Given the description of an element on the screen output the (x, y) to click on. 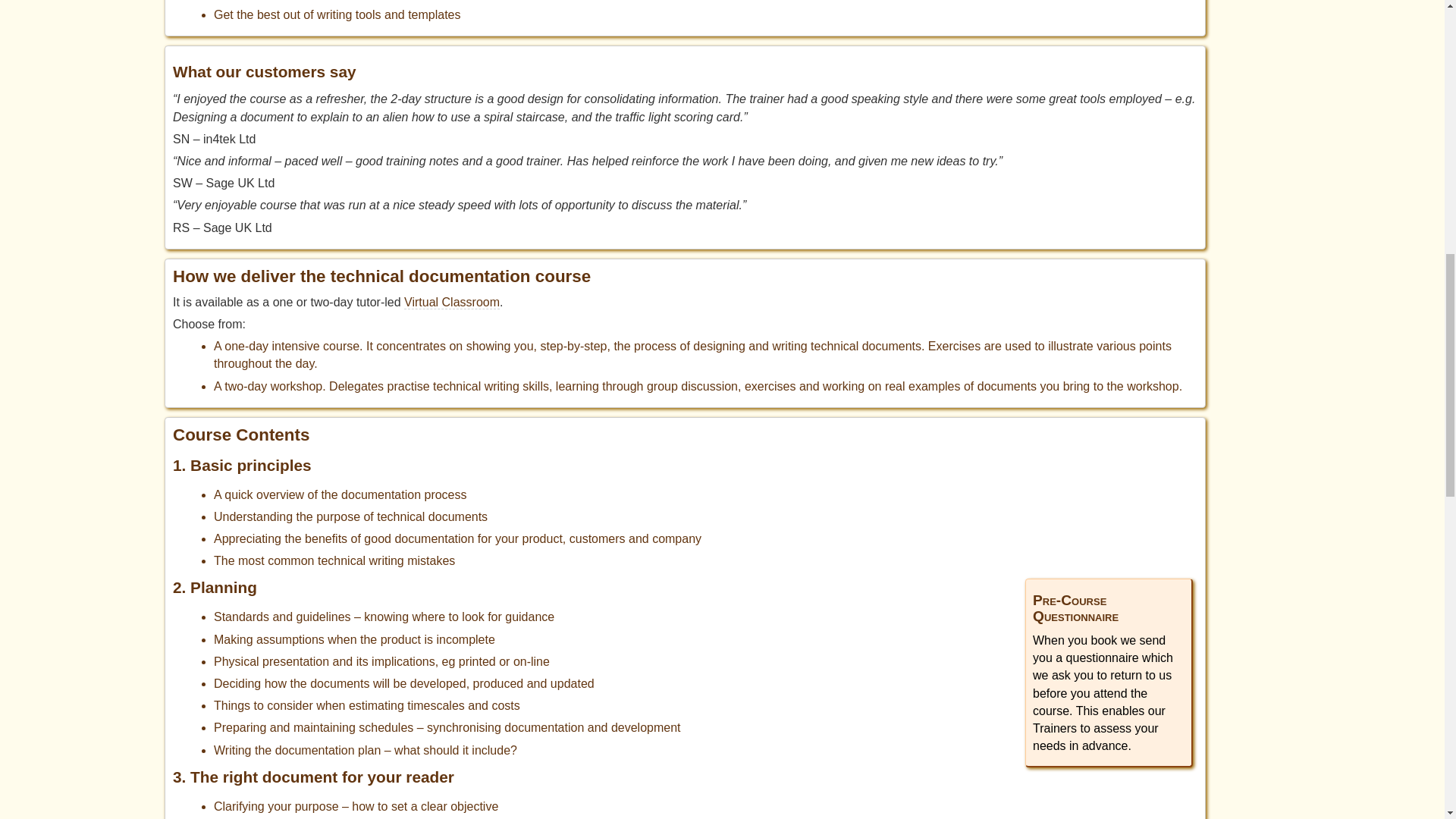
Virtual Classroom (451, 302)
